Given the description of an element on the screen output the (x, y) to click on. 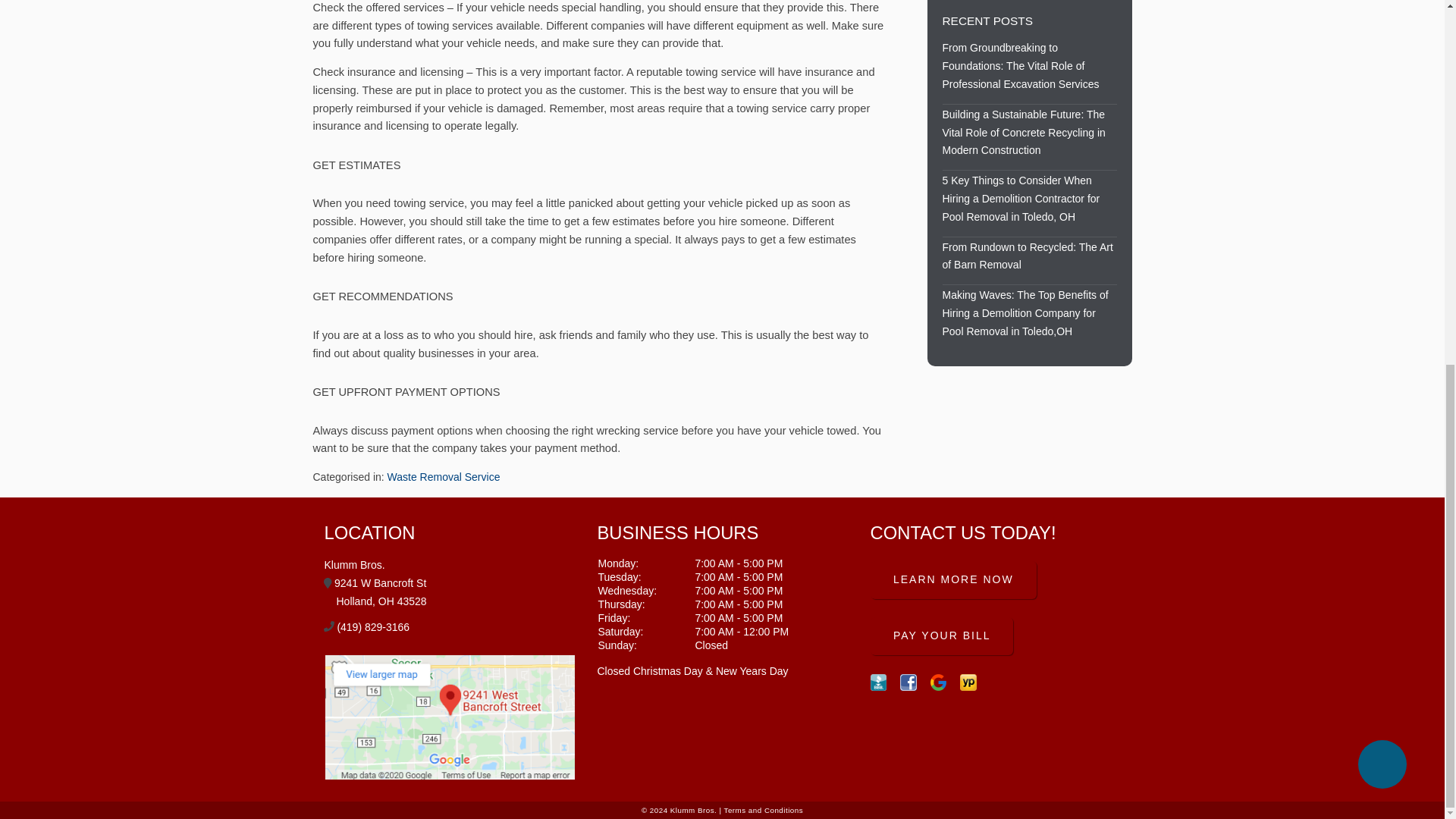
Waste Removal Service (443, 476)
